Given the description of an element on the screen output the (x, y) to click on. 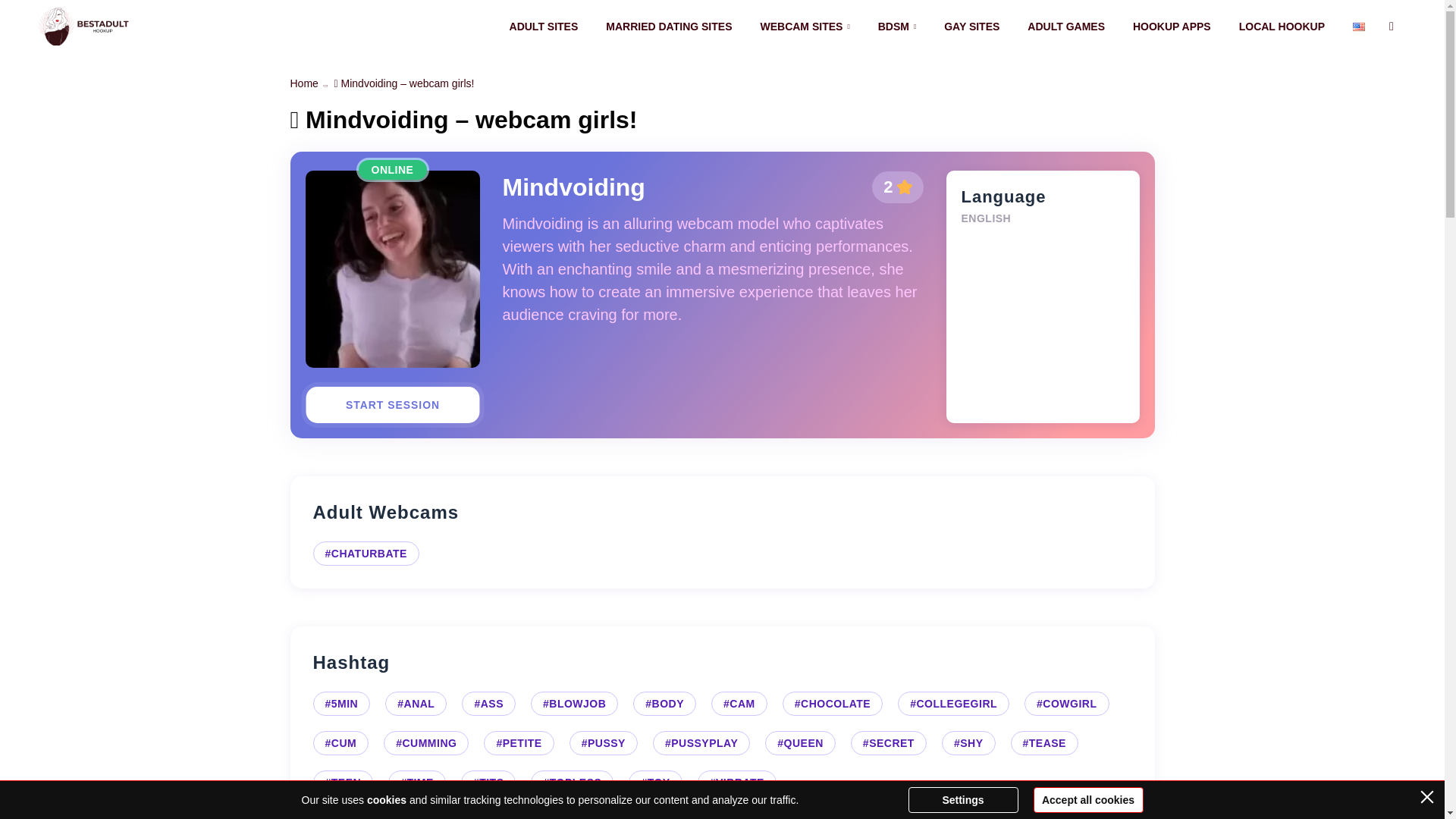
LOCAL HOOKUP (1281, 26)
ADULT SITES (543, 26)
Best Adult Hookup Sites (83, 26)
ADULT GAMES (1066, 26)
MARRIED DATING SITES (668, 26)
Home (303, 82)
HOOKUP APPS (1171, 26)
GAY SITES (970, 26)
WEBCAM SITES (804, 26)
